Given the description of an element on the screen output the (x, y) to click on. 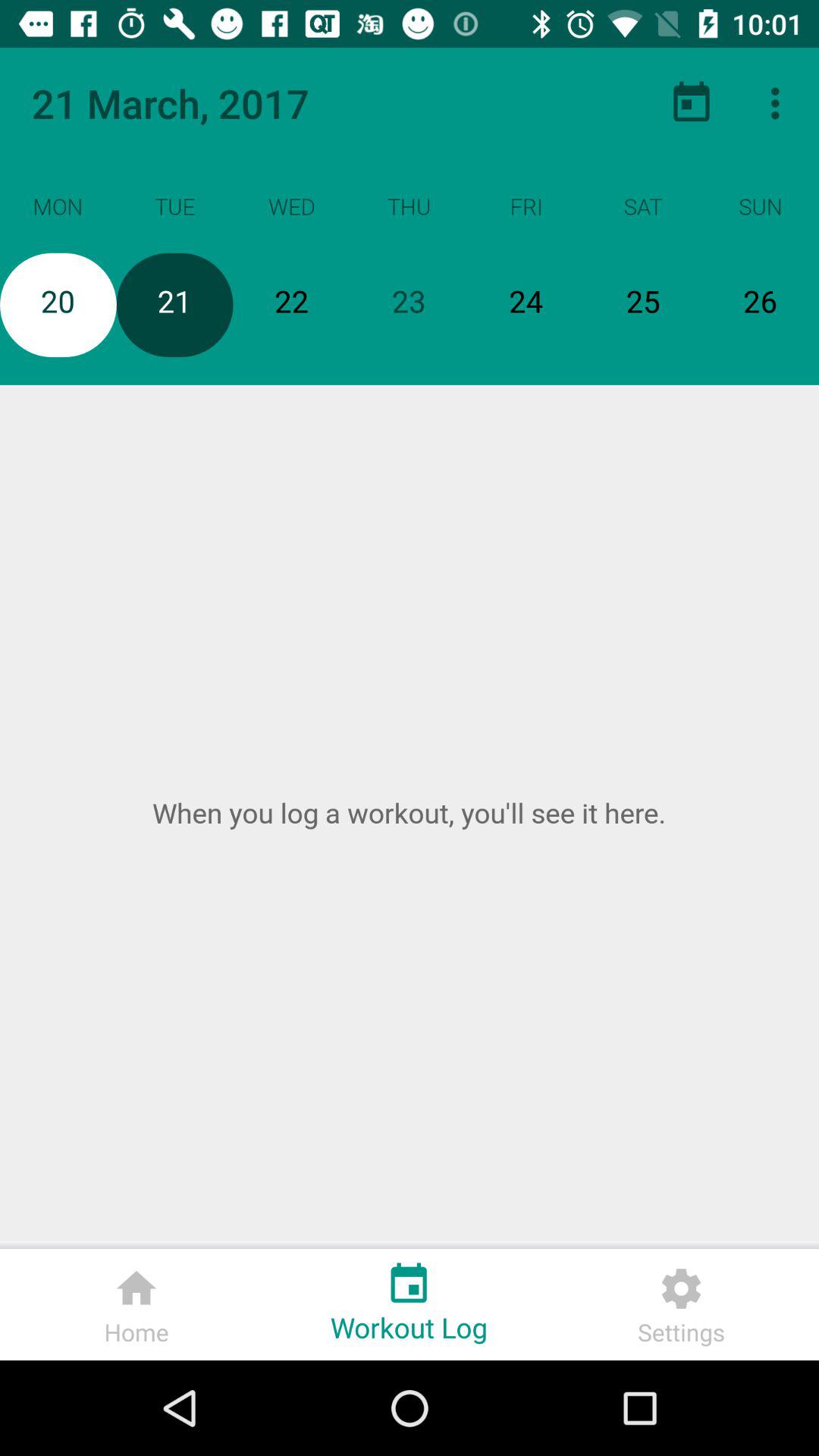
click on the number 24 shown below fri (525, 304)
click on the logo placed above workout log (408, 1278)
click on the button beside workout log on left (136, 1304)
